Given the description of an element on the screen output the (x, y) to click on. 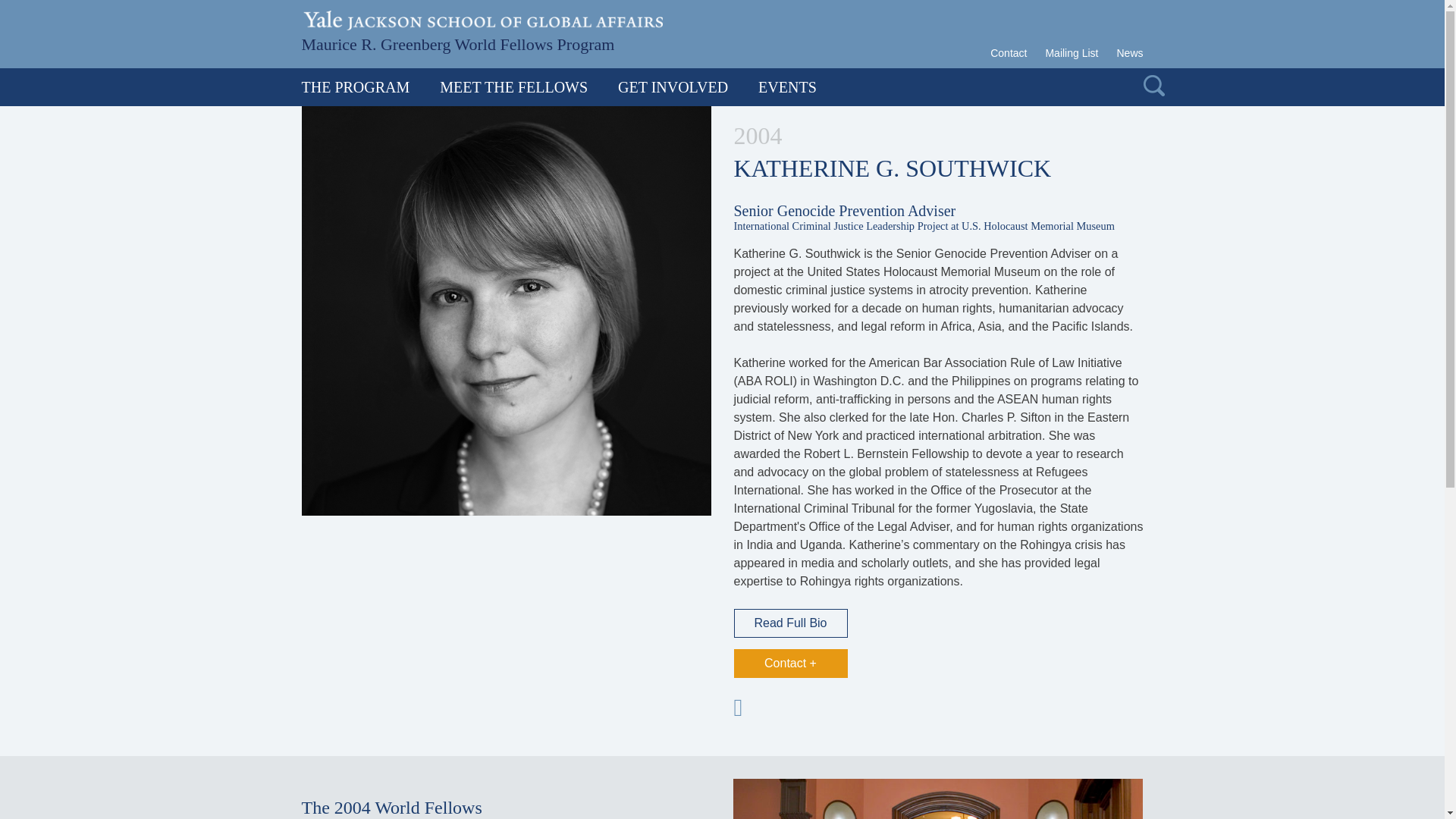
GET INVOLVED (672, 86)
THE PROGRAM (363, 86)
Contact (1012, 52)
Contact Katherine G. Southwick (790, 663)
World Fellows Logo (457, 42)
Maurice R. Greenberg World Fellows Program (457, 42)
Mailing List (1070, 52)
News (1124, 52)
MEET THE FELLOWS (513, 86)
